Given the description of an element on the screen output the (x, y) to click on. 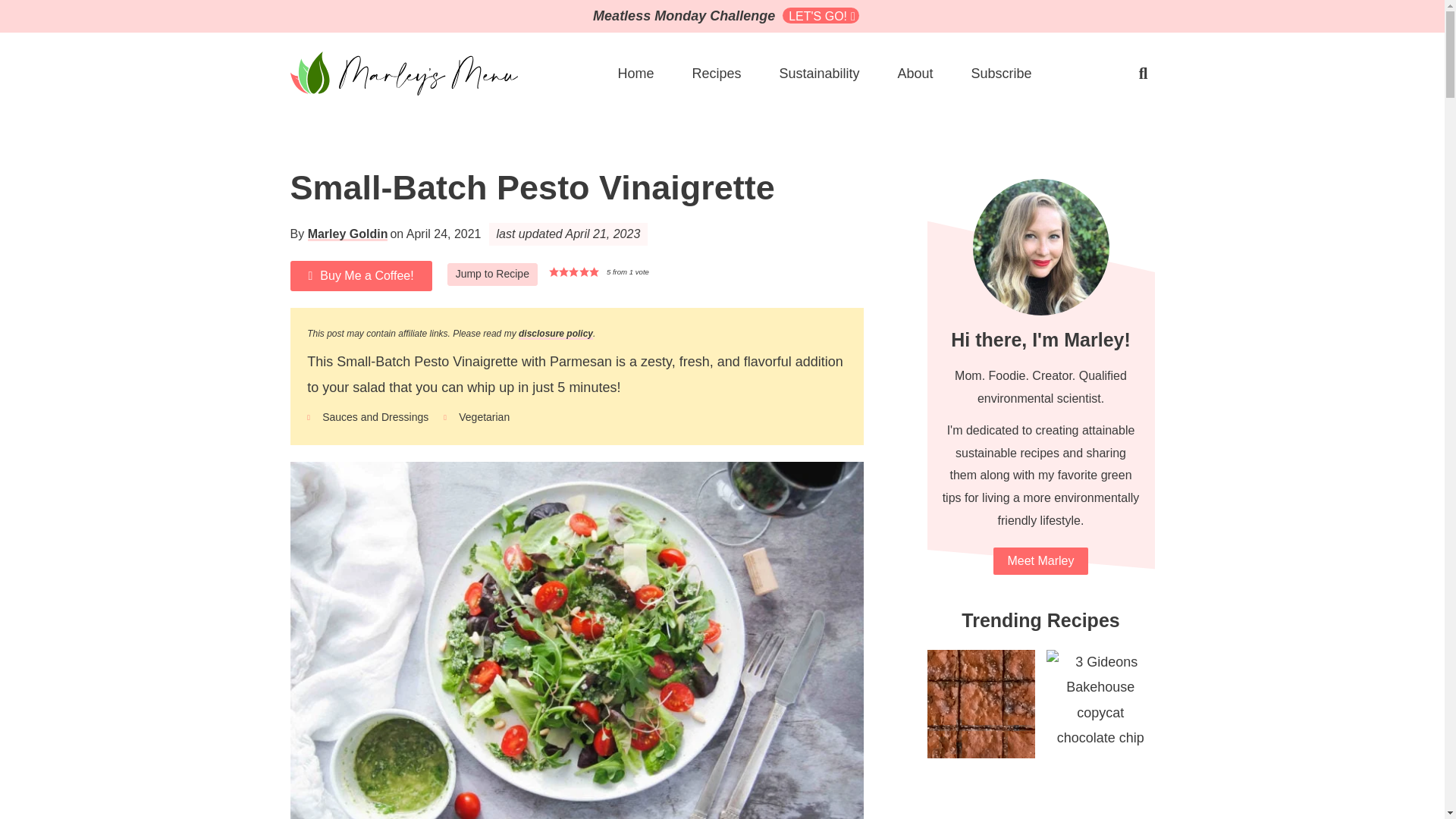
Jump to Recipe (491, 273)
LET'S GO! (821, 15)
disclosure policy (555, 333)
Sustainability (818, 73)
Recipes (715, 73)
About (914, 73)
Buy Me a Coffee! (359, 276)
Vegetarian (483, 417)
Sauces and Dressings (374, 417)
Home (635, 73)
